Given the description of an element on the screen output the (x, y) to click on. 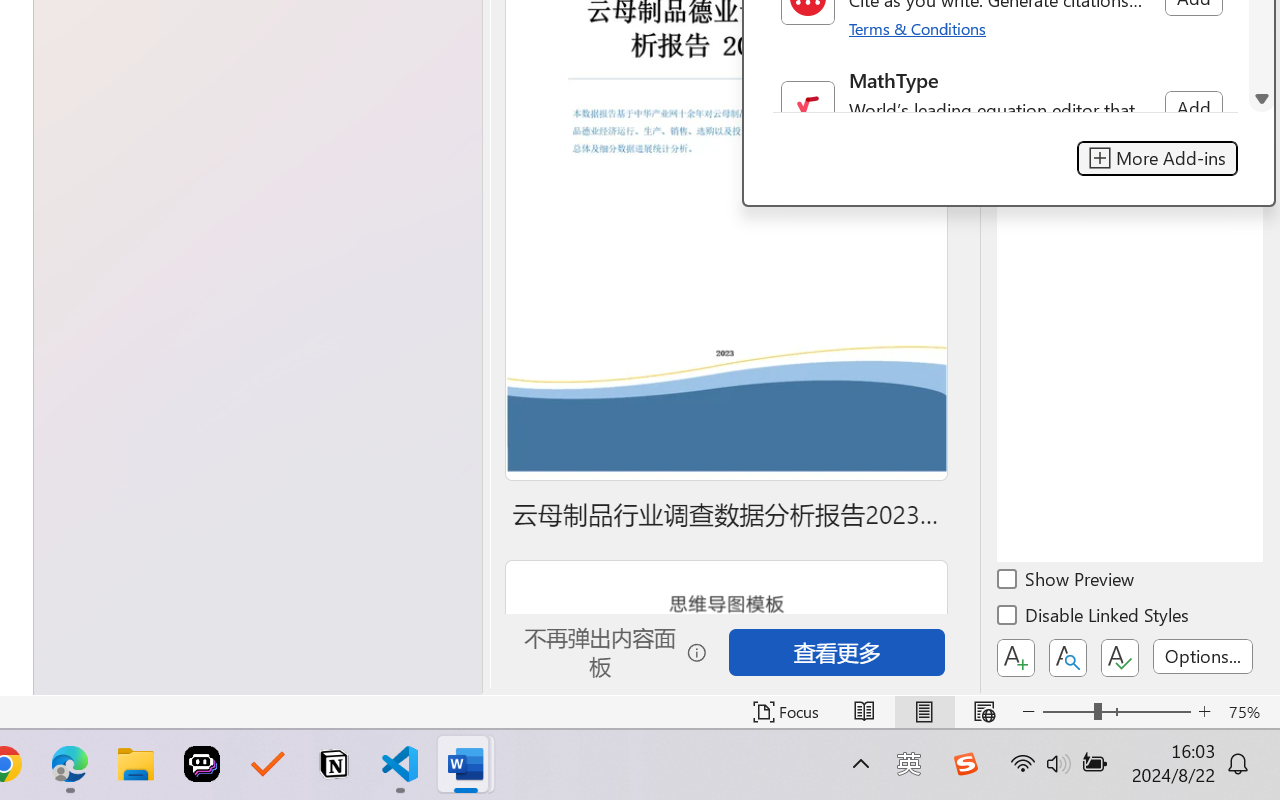
Disable Linked Styles (1094, 618)
Add (1193, 108)
Line down (1261, 99)
Class: Image (965, 764)
Zoom In (1204, 712)
Class: NetUIImage (807, 107)
Terms & Conditions (918, 28)
Class: NetUIButton (1119, 657)
